Given the description of an element on the screen output the (x, y) to click on. 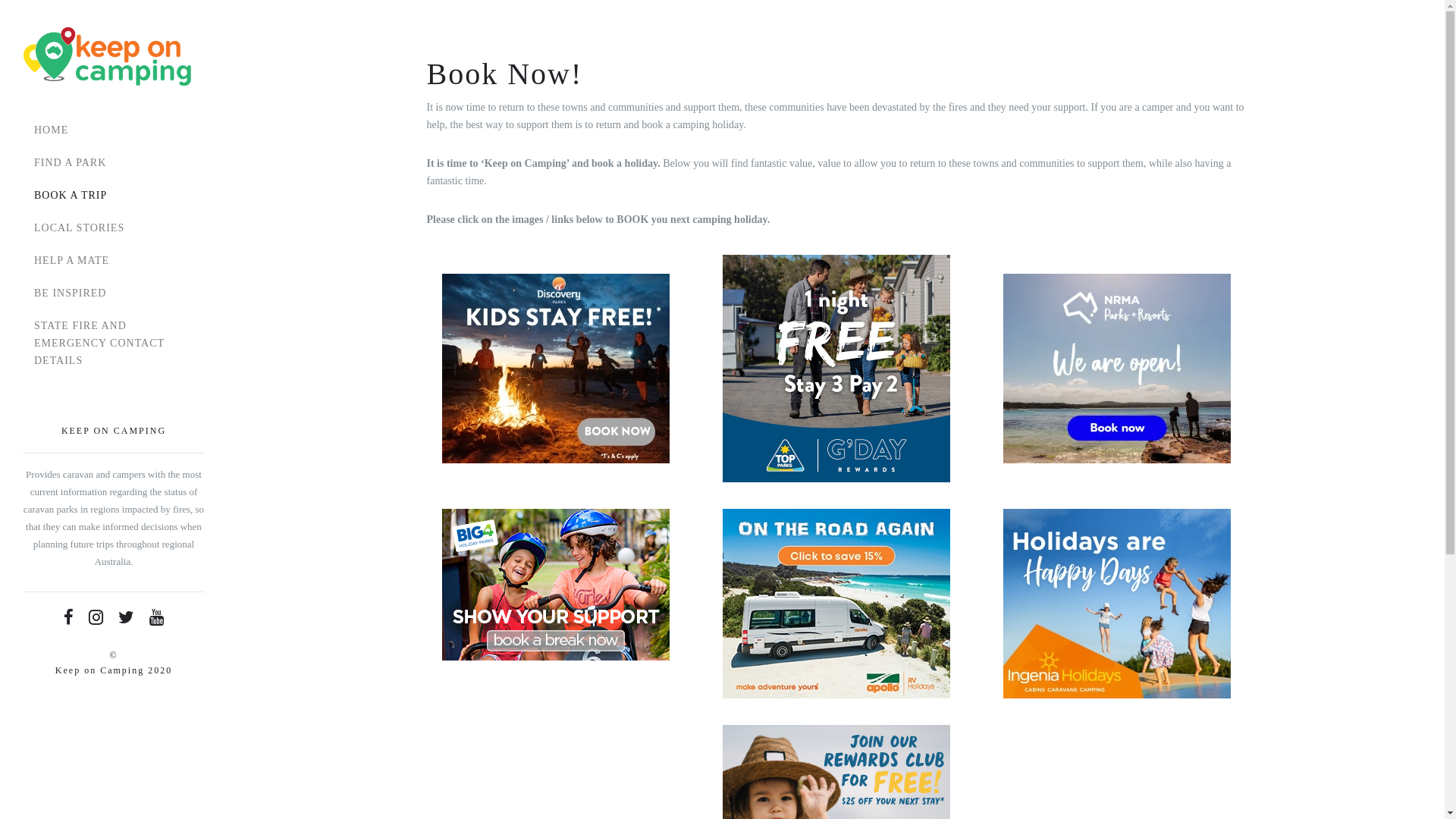
BOOK A TRIP Element type: text (113, 194)
IH_RemarketingAd_HappyDays_300x250 Element type: hover (1116, 603)
HELP A MATE Element type: text (113, 260)
Facebook Element type: hover (67, 617)
Youtube Element type: hover (156, 617)
Twitter Element type: hover (126, 617)
HOME Element type: text (113, 129)
STATE FIRE AND EMERGENCY CONTACT DETAILS Element type: text (113, 342)
Instagram Element type: hover (95, 617)
FIND A PARK Element type: text (113, 162)
LOCAL STORIES Element type: text (113, 227)
BE INSPIRED Element type: text (113, 292)
Keep On Camping Element type: hover (107, 56)
Kids Pedal Kart - MREC 300x250 Element type: hover (554, 584)
